Given the description of an element on the screen output the (x, y) to click on. 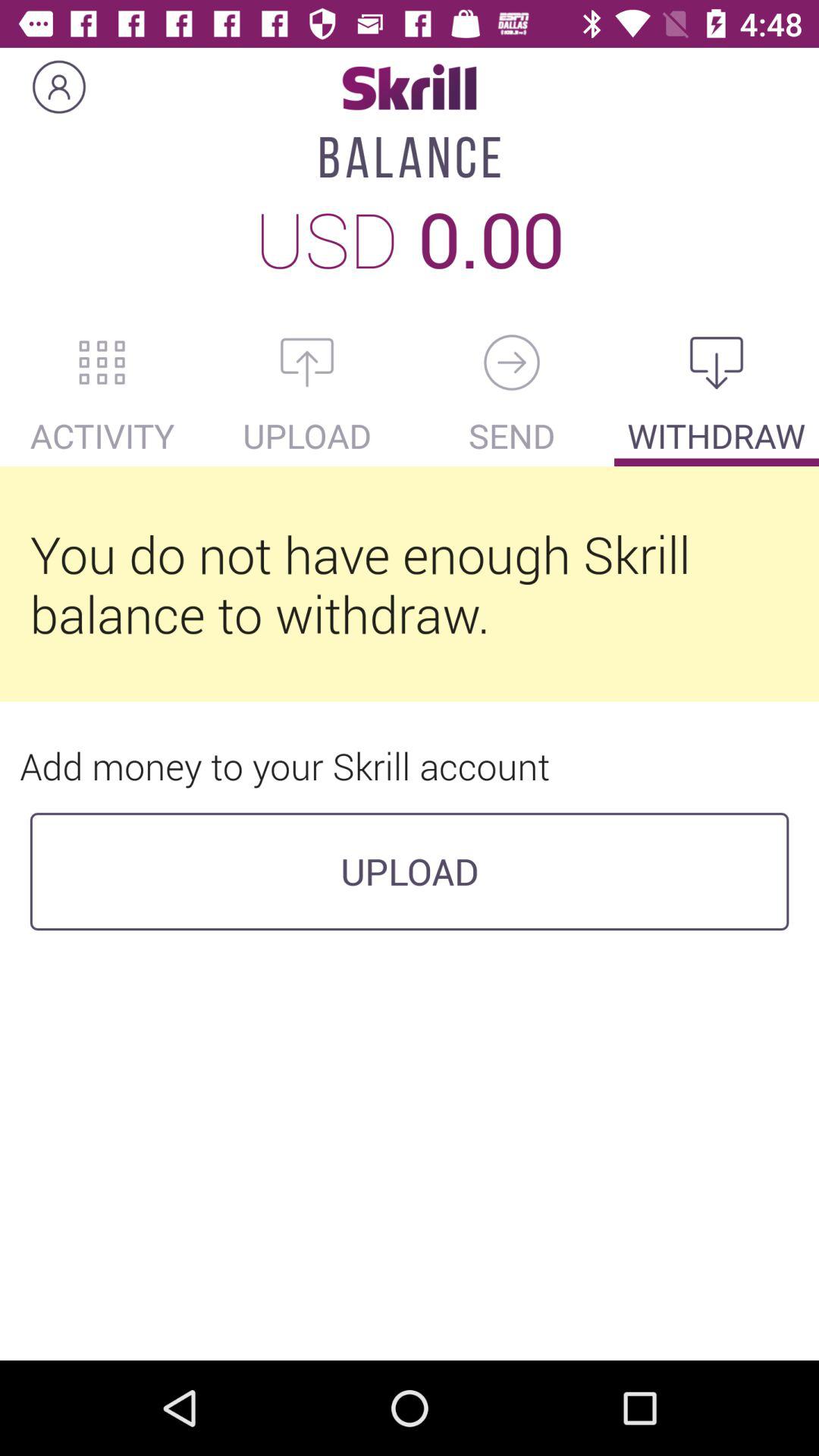
go to next (511, 362)
